Given the description of an element on the screen output the (x, y) to click on. 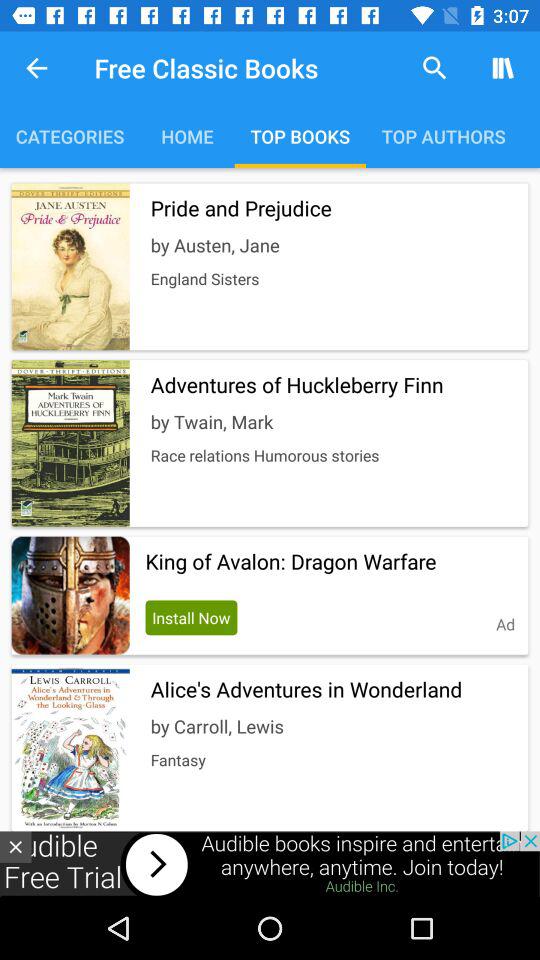
close button (15, 846)
